Given the description of an element on the screen output the (x, y) to click on. 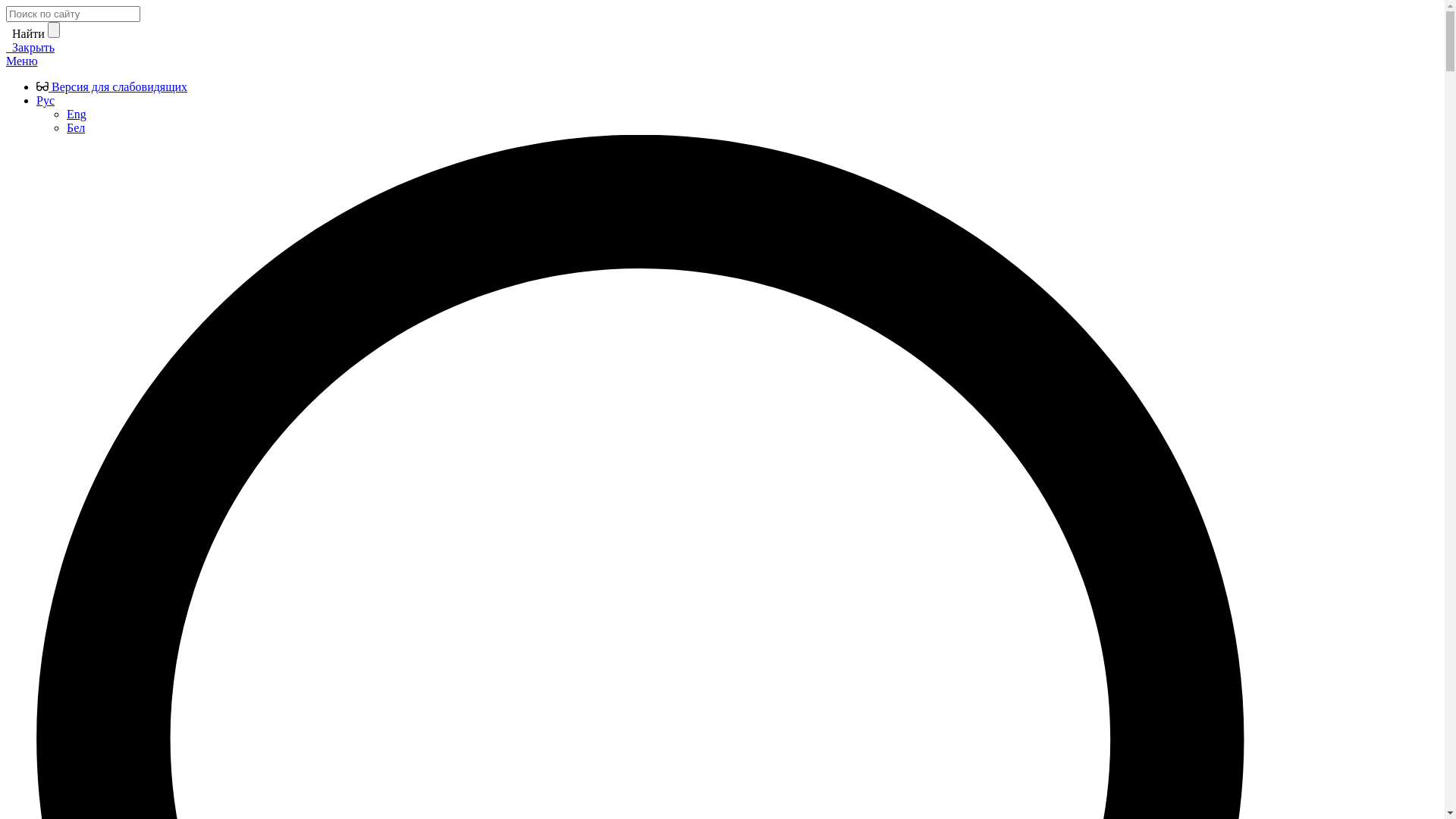
Eng Element type: text (76, 113)
